Given the description of an element on the screen output the (x, y) to click on. 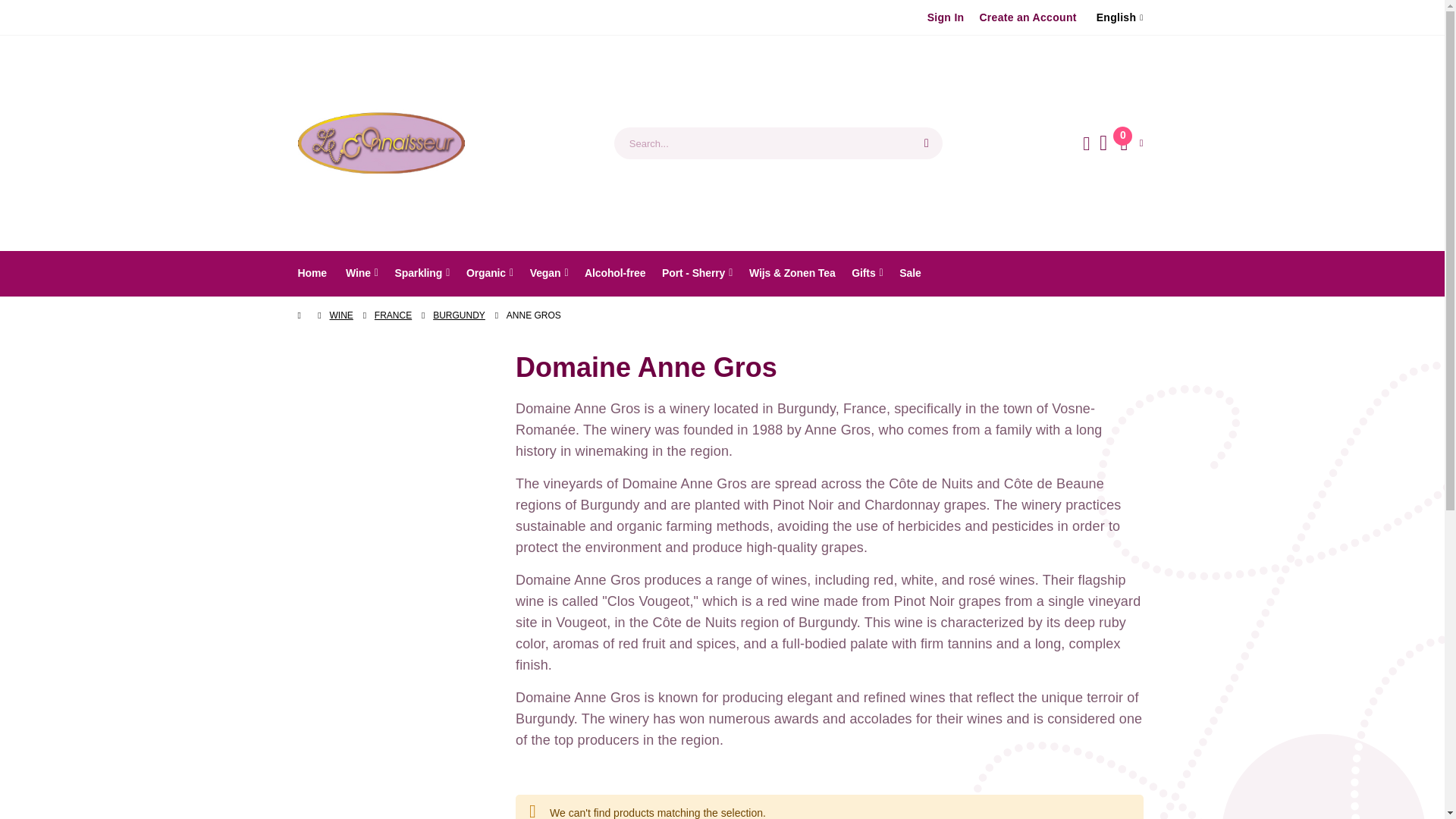
Sign In (946, 17)
Le Connaisseur (380, 143)
Create an Account (1027, 17)
Search (926, 142)
